Given the description of an element on the screen output the (x, y) to click on. 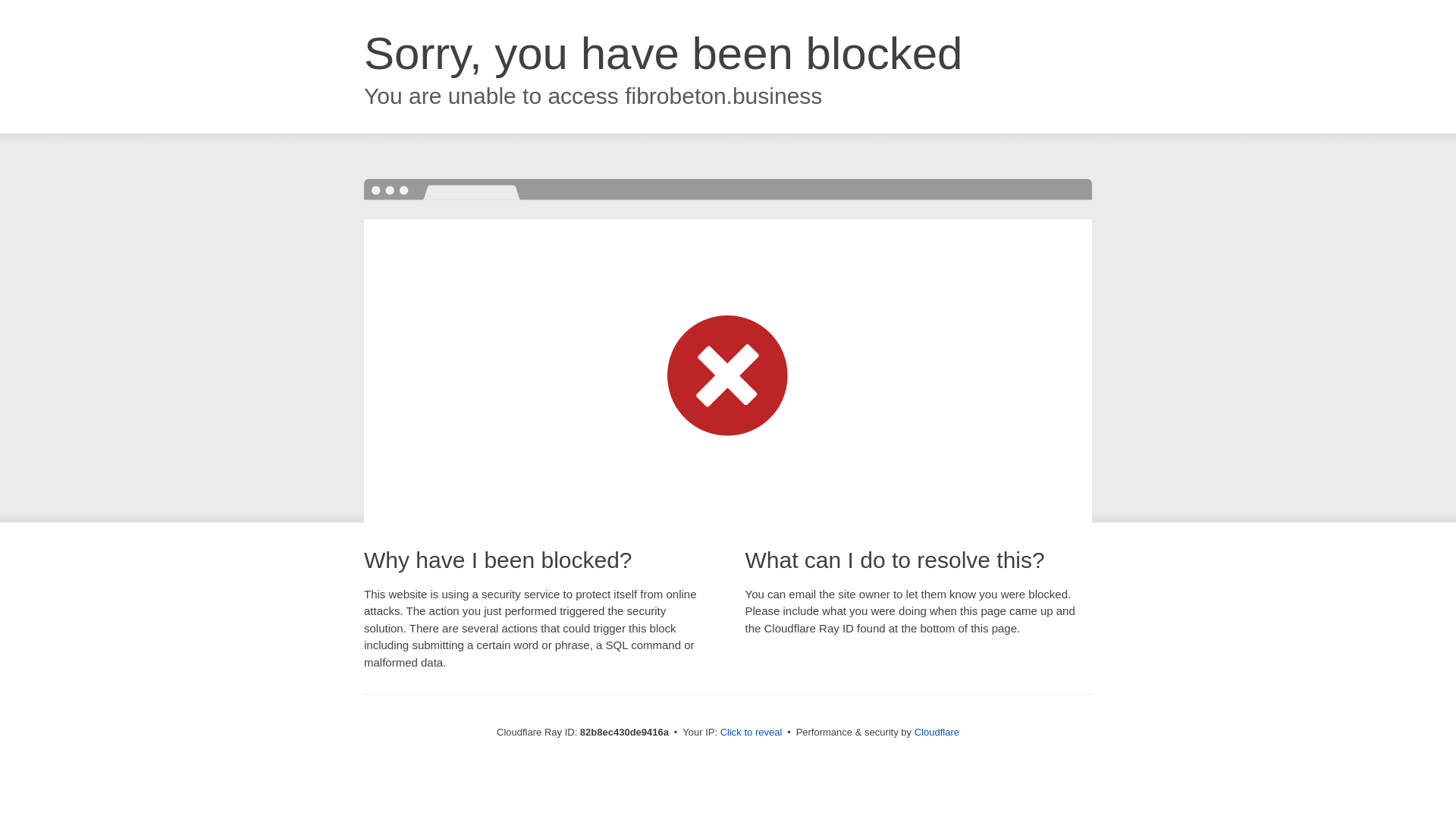
Cloudflare Element type: text (936, 731)
Click to reveal Element type: text (751, 732)
